Given the description of an element on the screen output the (x, y) to click on. 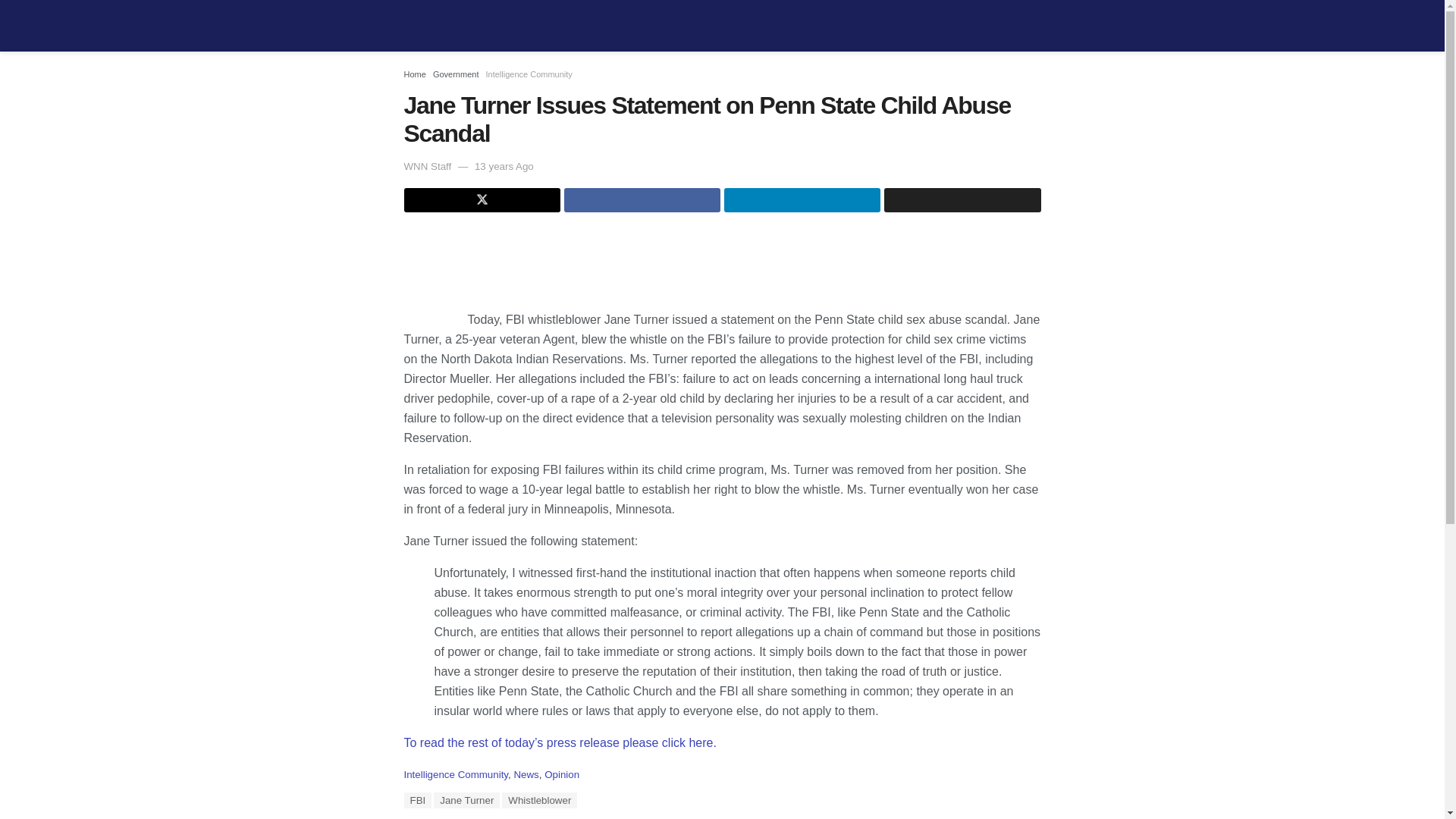
Jane Turner (466, 800)
Opinion (561, 774)
FBI (416, 800)
Whistleblower (539, 800)
Intelligence Community (455, 774)
Intelligence Community (528, 73)
Home (414, 73)
Government (455, 73)
News (525, 774)
